Given the description of an element on the screen output the (x, y) to click on. 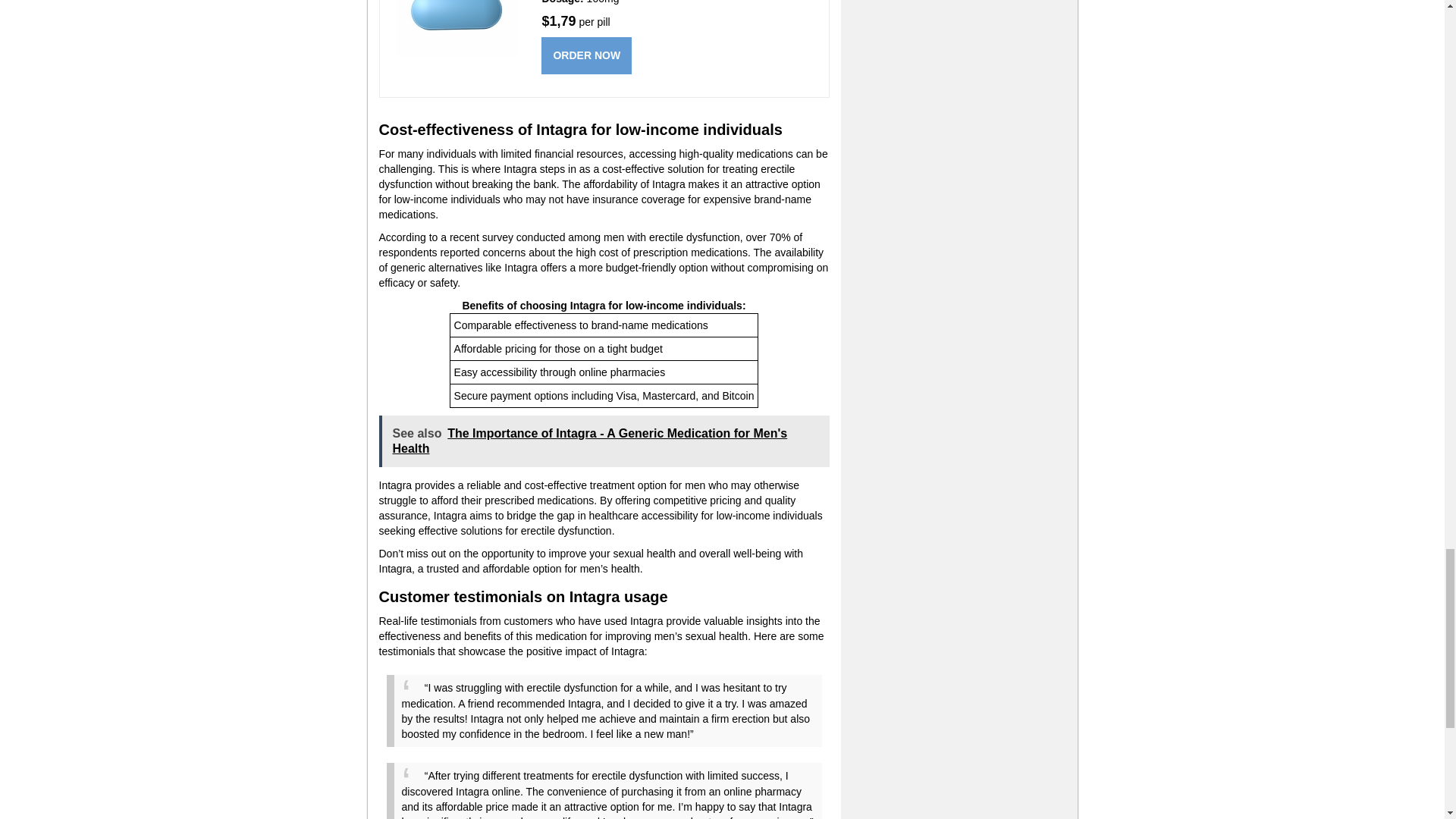
ORDER NOW (586, 55)
